Given the description of an element on the screen output the (x, y) to click on. 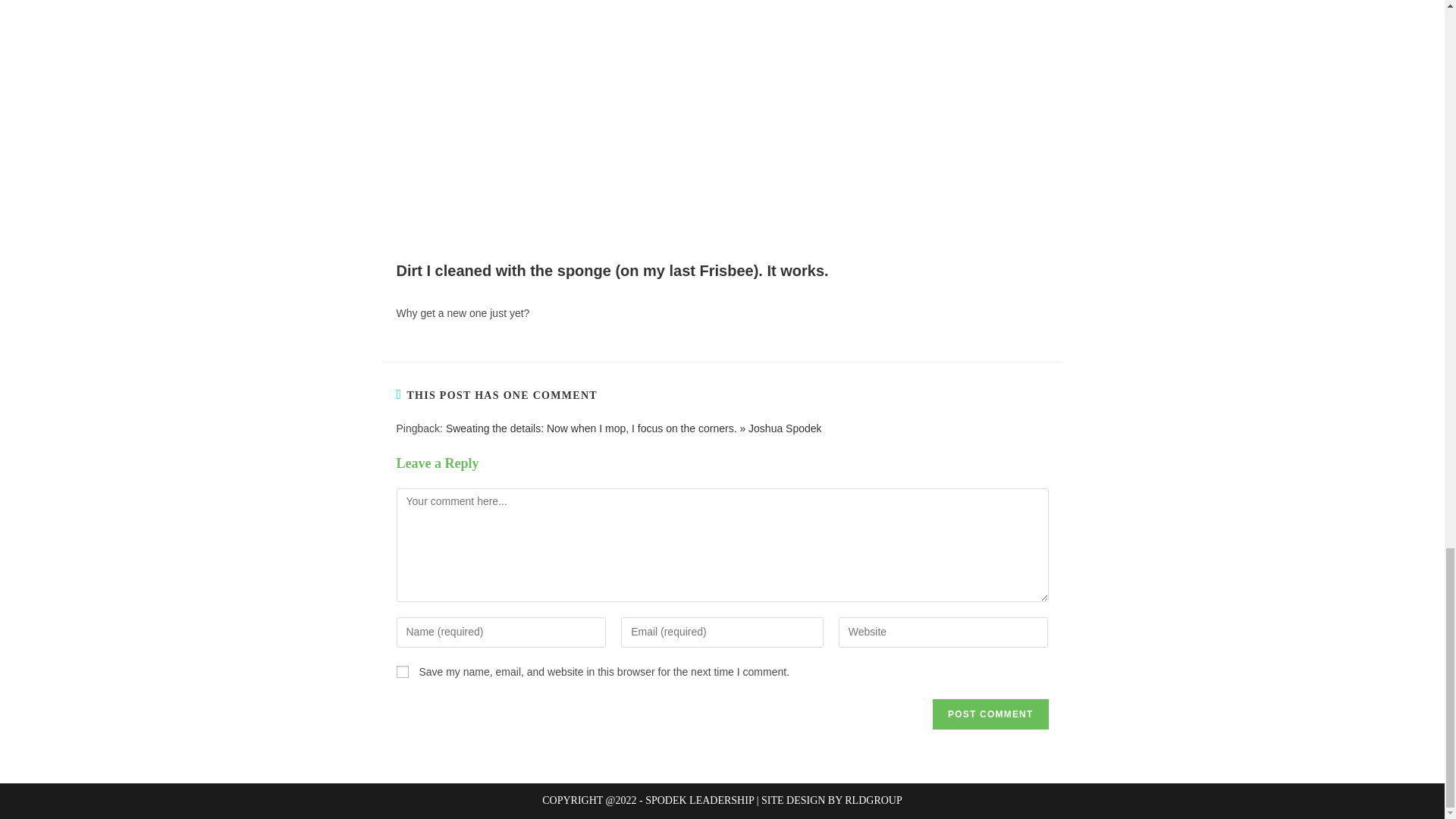
Post Comment (990, 714)
yes (401, 671)
RLDGROUP (872, 799)
Post Comment (990, 714)
